Given the description of an element on the screen output the (x, y) to click on. 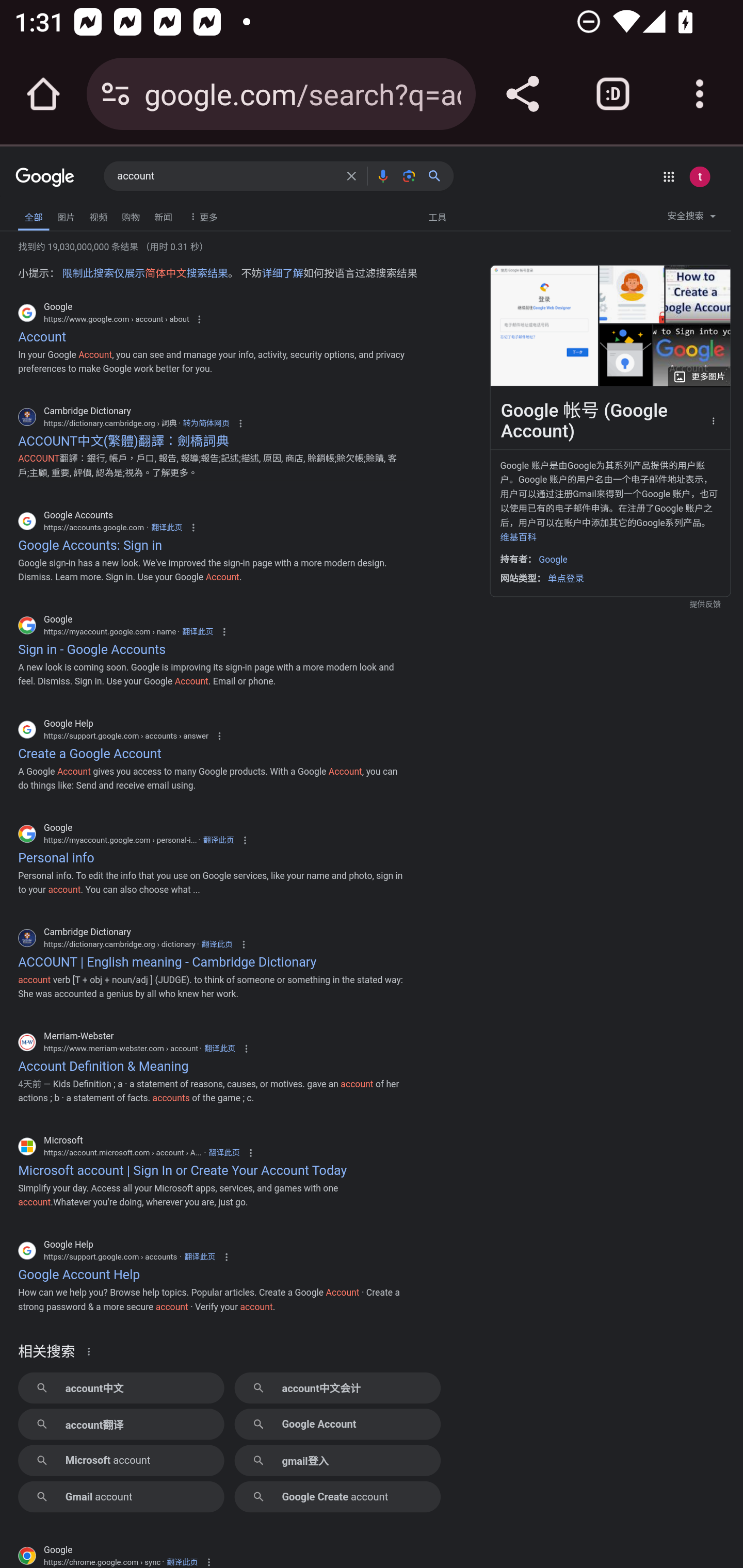
Open the home page (43, 93)
Connection is secure (115, 93)
Share (522, 93)
Switch or close tabs (612, 93)
Customize and control Google Chrome (699, 93)
清除 (351, 175)
按语音搜索 (382, 175)
按图搜索 (408, 175)
搜索 (438, 175)
Google 应用 (668, 176)
Google 账号： test appium (testappium002@gmail.com) (699, 176)
Google (45, 178)
account (225, 176)
无障碍功能反馈 (41, 212)
图片 (65, 215)
视频 (98, 215)
购物 (131, 215)
新闻 (163, 215)
更多 (201, 215)
安全搜索 (691, 218)
工具 (437, 215)
Manage your Google Settings - Google Account Help (631, 293)
How to Create Google Account (697, 293)
限制此搜索仅展示简体中文搜索结果 限制此搜索仅展示 简体中文 搜索结果 (144, 272)
详细了解 (281, 272)
Google Account (625, 354)
How to Sign into your Google Account (691, 354)
更多图片 (698, 376)
更多选项 (712, 419)
转为简体网页 (205, 423)
翻译此页 (166, 527)
维基百科 (518, 536)
Google (552, 560)
单点登录 (565, 577)
提供反馈 (609, 603)
翻译此页 (197, 631)
翻译此页 (218, 840)
翻译此页 (216, 943)
翻译此页 (219, 1047)
翻译此页 (224, 1152)
翻译此页 (199, 1257)
关于这条结果的详细信息 (92, 1350)
account中文 (120, 1387)
account中文会计 (337, 1387)
account翻译 (120, 1423)
Google Account (337, 1423)
Microsoft account (120, 1459)
gmail登入 (337, 1459)
Gmail account (120, 1495)
Google Create account (337, 1495)
翻译此页 (182, 1561)
